Given the description of an element on the screen output the (x, y) to click on. 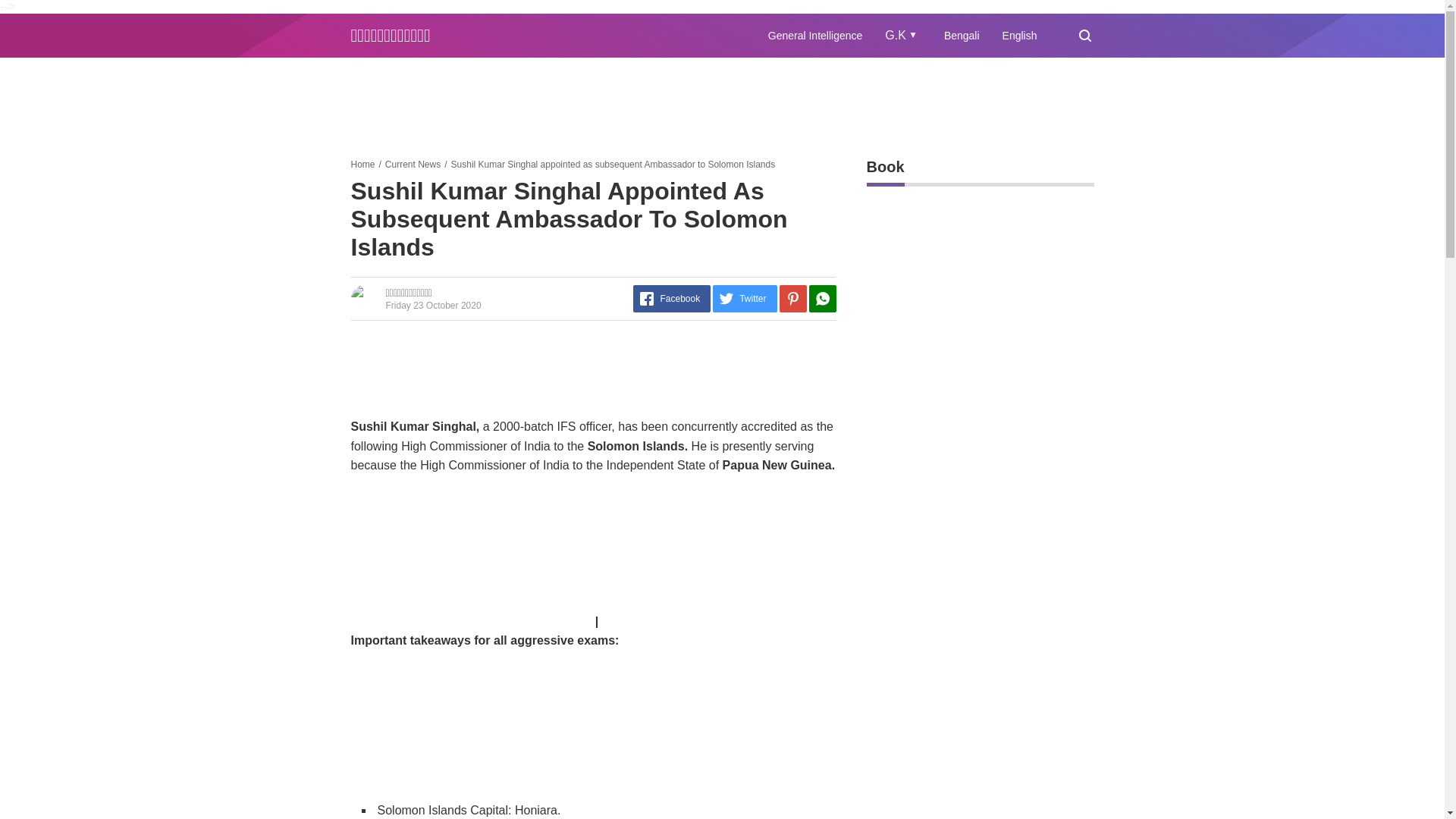
Current News (413, 163)
Bengali (961, 35)
Twitter (744, 298)
Home (362, 163)
Current News (413, 163)
General Intelligence (815, 35)
Share on Pinterest (792, 298)
Home (362, 163)
English (1019, 35)
Facebook (671, 298)
